Given the description of an element on the screen output the (x, y) to click on. 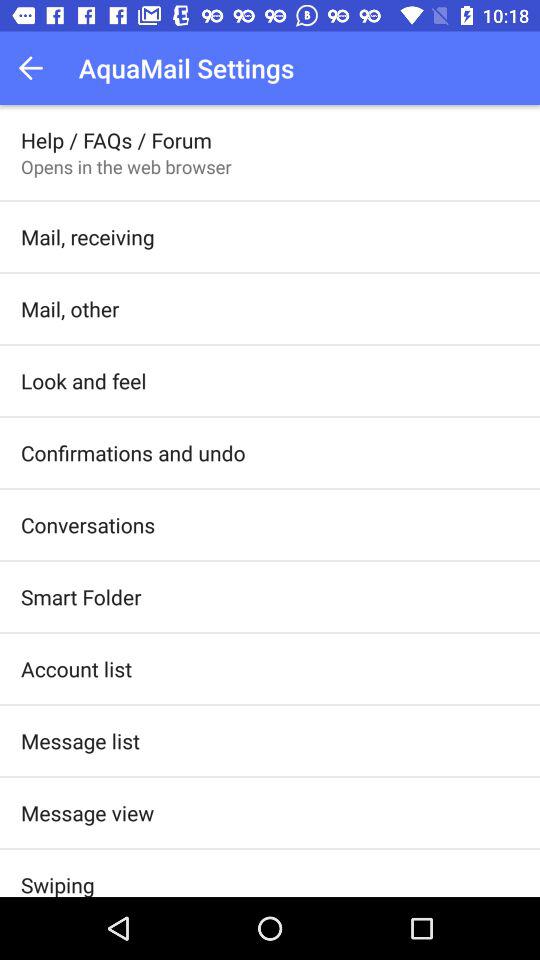
launch the app above the smart folder icon (88, 524)
